Given the description of an element on the screen output the (x, y) to click on. 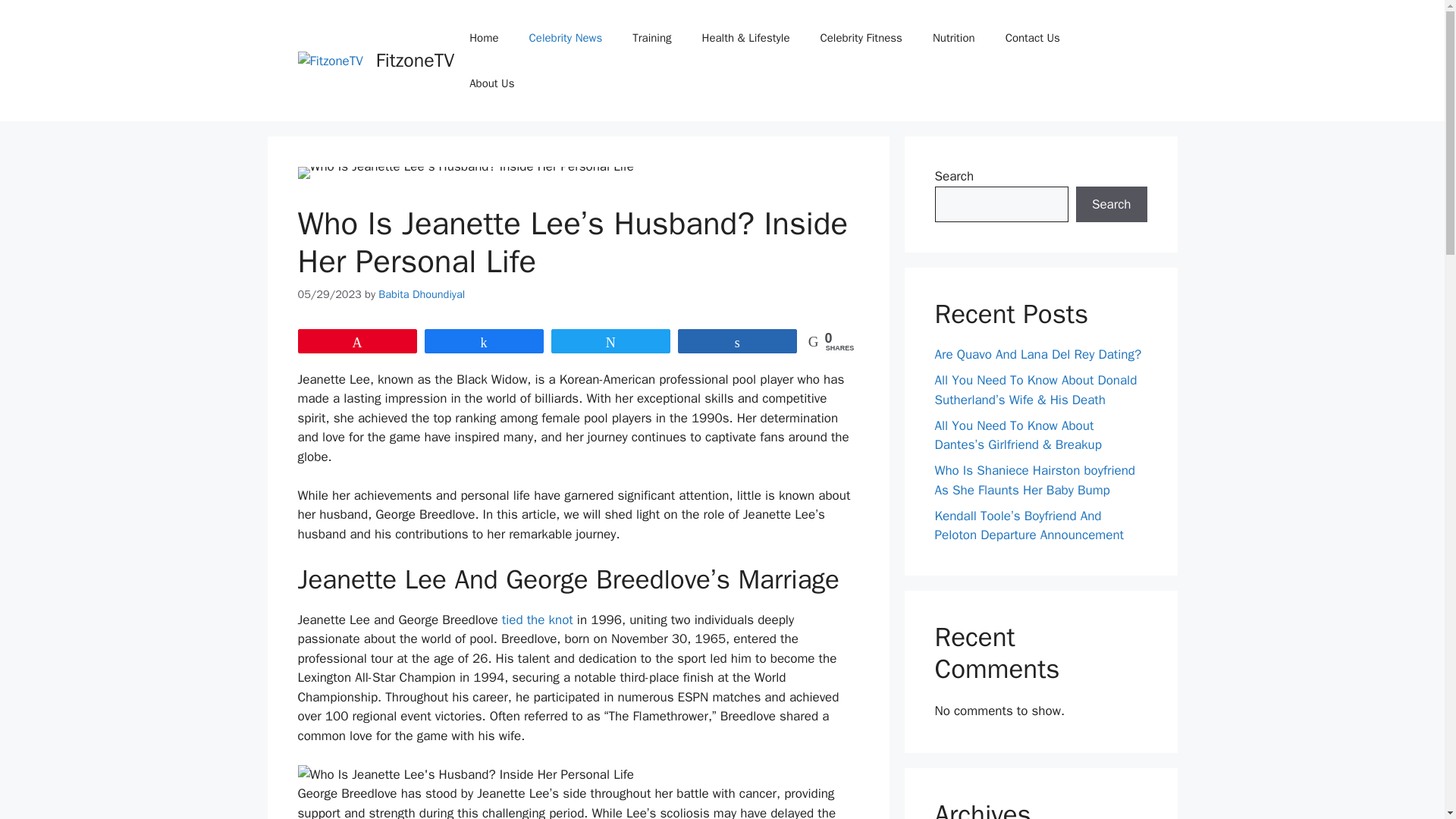
Celebrity Fitness (861, 37)
Babita Dhoundiyal (421, 294)
View all posts by Babita Dhoundiyal (421, 294)
Nutrition (953, 37)
Search (1111, 204)
About Us (491, 83)
Contact Us (1032, 37)
Training (651, 37)
Celebrity News (565, 37)
tied the knot (539, 619)
FitzoneTV (414, 60)
Home (483, 37)
Are Quavo And Lana Del Rey Dating? (1037, 354)
